Given the description of an element on the screen output the (x, y) to click on. 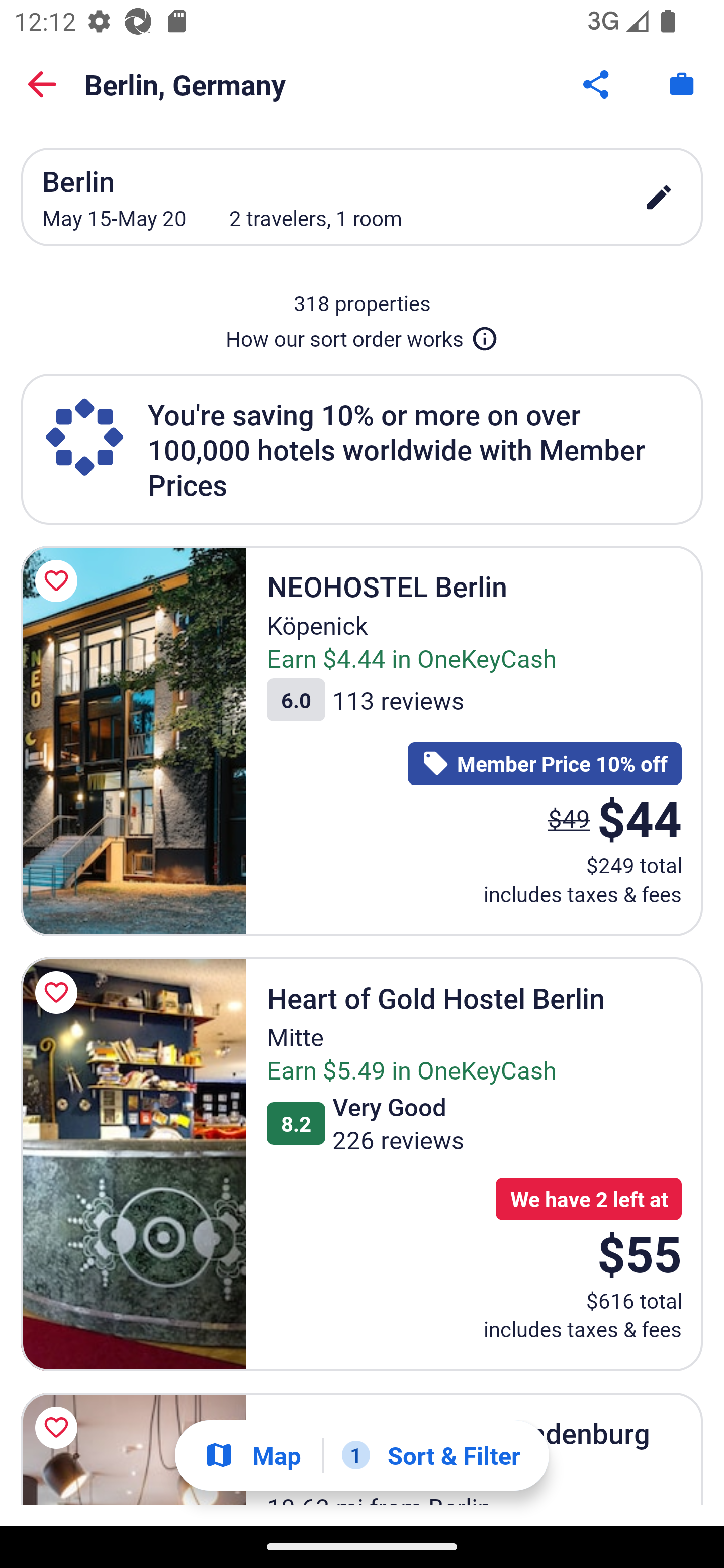
Back (42, 84)
Share Button (597, 84)
Trips. Button (681, 84)
Berlin May 15-May 20 2 travelers, 1 room edit (361, 196)
How our sort order works (361, 334)
Save NEOHOSTEL Berlin to a trip (59, 580)
NEOHOSTEL Berlin (133, 740)
$49 The price was $49 (569, 818)
Save Heart of Gold Hostel Berlin to a trip (59, 992)
Heart of Gold Hostel Berlin (133, 1165)
Campanile Berlin Brandenburg Airport (133, 1448)
1 Sort & Filter 1 Filter applied. Filters Button (430, 1455)
Show map Map Show map Button (252, 1455)
